Given the description of an element on the screen output the (x, y) to click on. 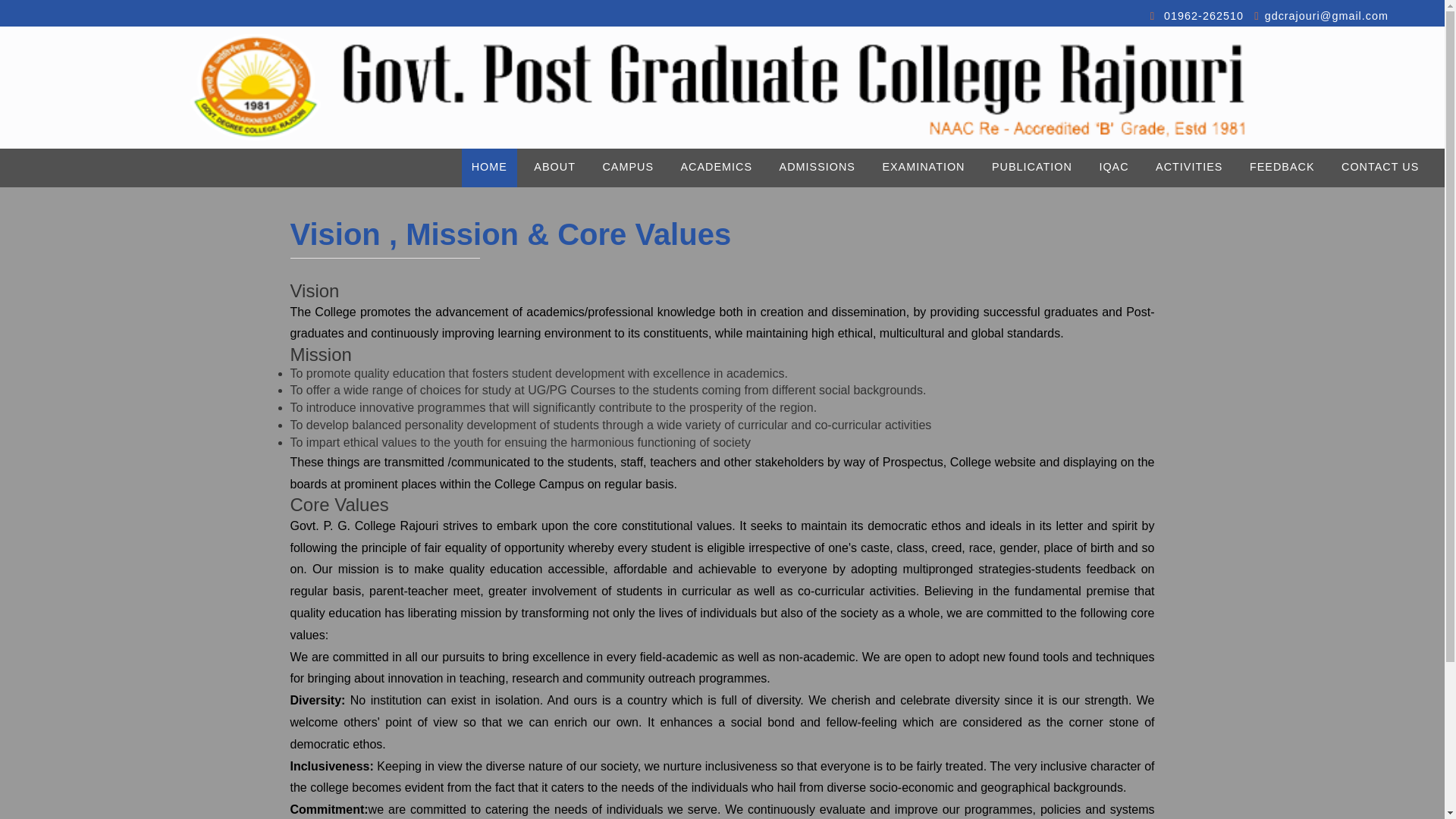
PUBLICATION (1031, 168)
HOME (488, 168)
ADMISSIONS (817, 168)
ACADEMICS (716, 168)
ABOUT (554, 168)
EXAMINATION (923, 168)
CAMPUS (627, 168)
